Given the description of an element on the screen output the (x, y) to click on. 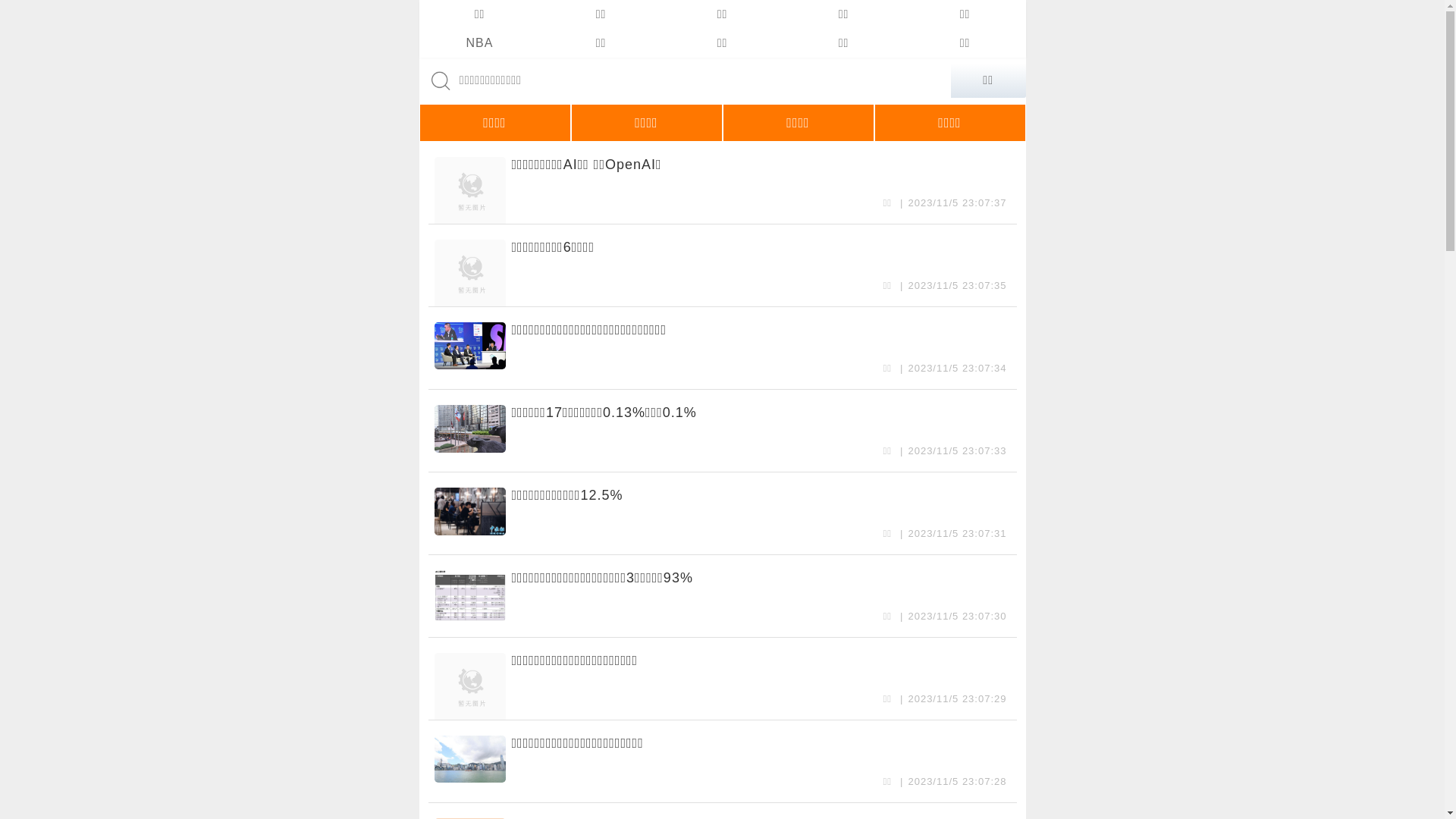
NBA Element type: text (478, 42)
